Given the description of an element on the screen output the (x, y) to click on. 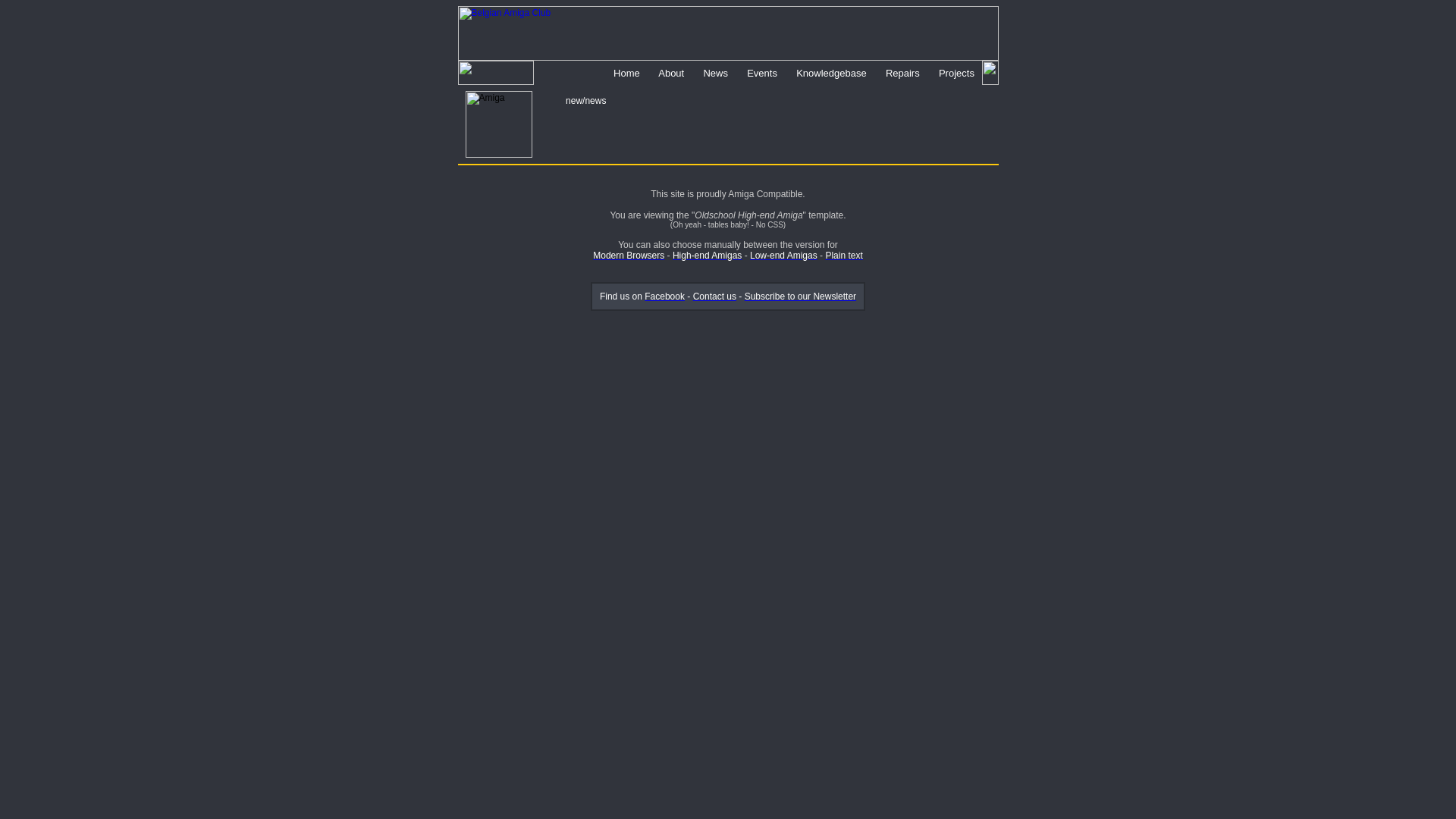
 Events  Element type: text (762, 73)
Contact us Element type: text (714, 296)
 Repairs  Element type: text (902, 73)
 News  Element type: text (715, 73)
 Home  Element type: text (626, 73)
High-end Amigas Element type: text (706, 255)
 Projects  Element type: text (955, 73)
Low-end Amigas Element type: text (783, 255)
Modern Browsers Element type: text (628, 255)
 Knowledgebase  Element type: text (831, 73)
Facebook Element type: text (664, 296)
Subscribe to our Newsletter Element type: text (800, 296)
Plain text Element type: text (843, 255)
 About  Element type: text (670, 73)
